Given the description of an element on the screen output the (x, y) to click on. 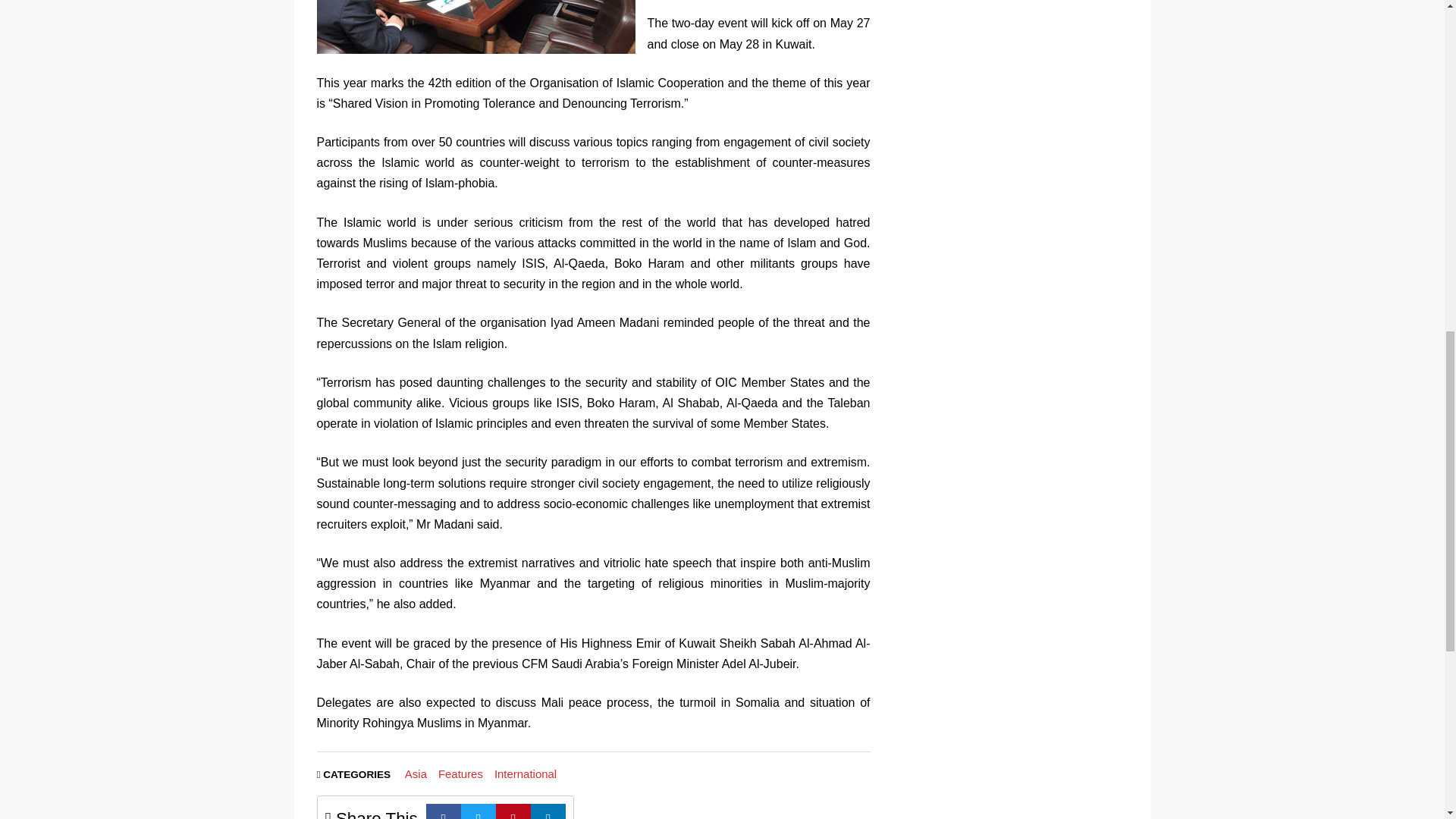
Linkedin (548, 811)
Facebook (443, 811)
Twitter (478, 811)
Pinterest (513, 811)
